Given the description of an element on the screen output the (x, y) to click on. 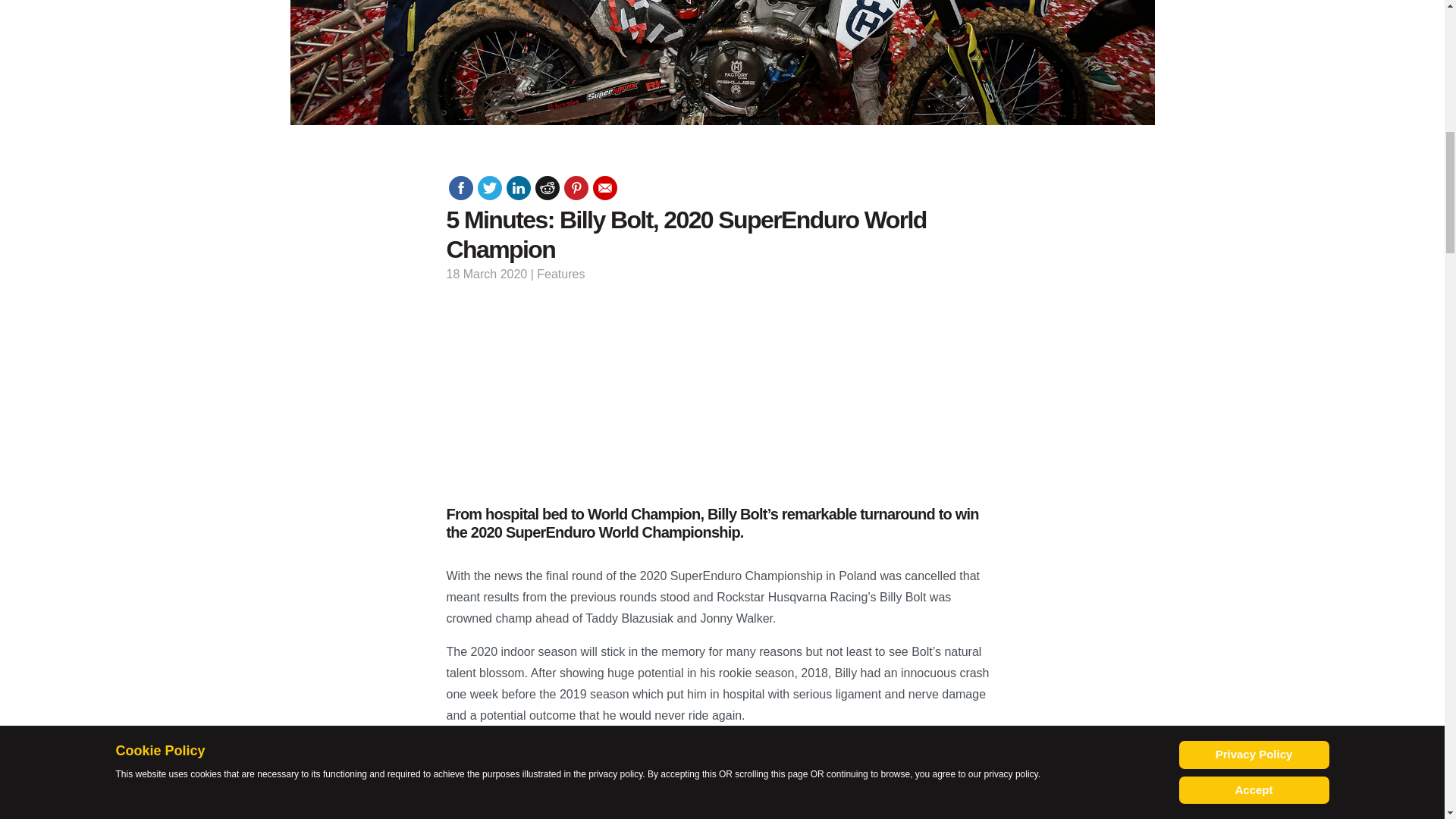
3rd party ad content (1279, 65)
Share on LinkedIn (518, 187)
3rd party ad content (721, 391)
Share on Reddit (547, 187)
Share on Twitter (489, 187)
Share on Facebook (460, 187)
Recommend this page (604, 187)
3rd party ad content (164, 65)
